Given the description of an element on the screen output the (x, y) to click on. 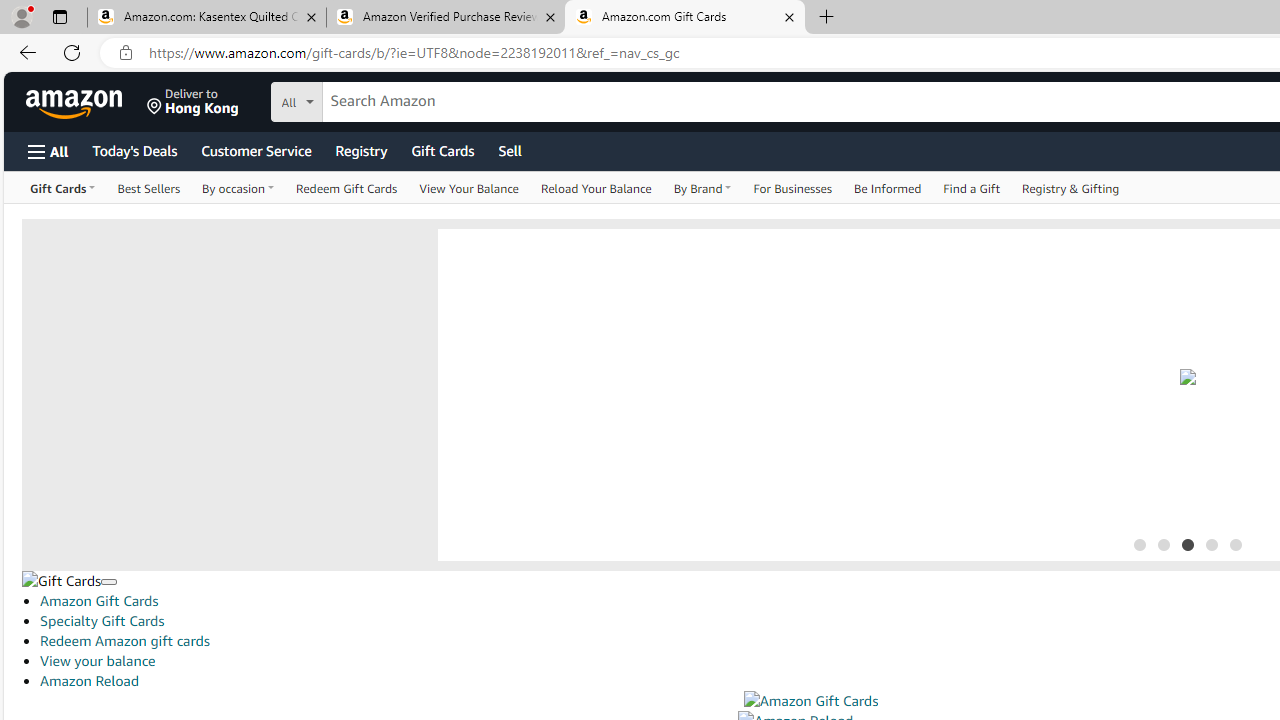
Registry & Gifting (1071, 187)
Search in (371, 99)
Redeem Gift Cards (347, 187)
For Businesses (792, 187)
Today's Deals (134, 150)
Customer Service (256, 150)
Open Menu (48, 151)
Gift Cards (442, 150)
Registry (360, 150)
